Given the description of an element on the screen output the (x, y) to click on. 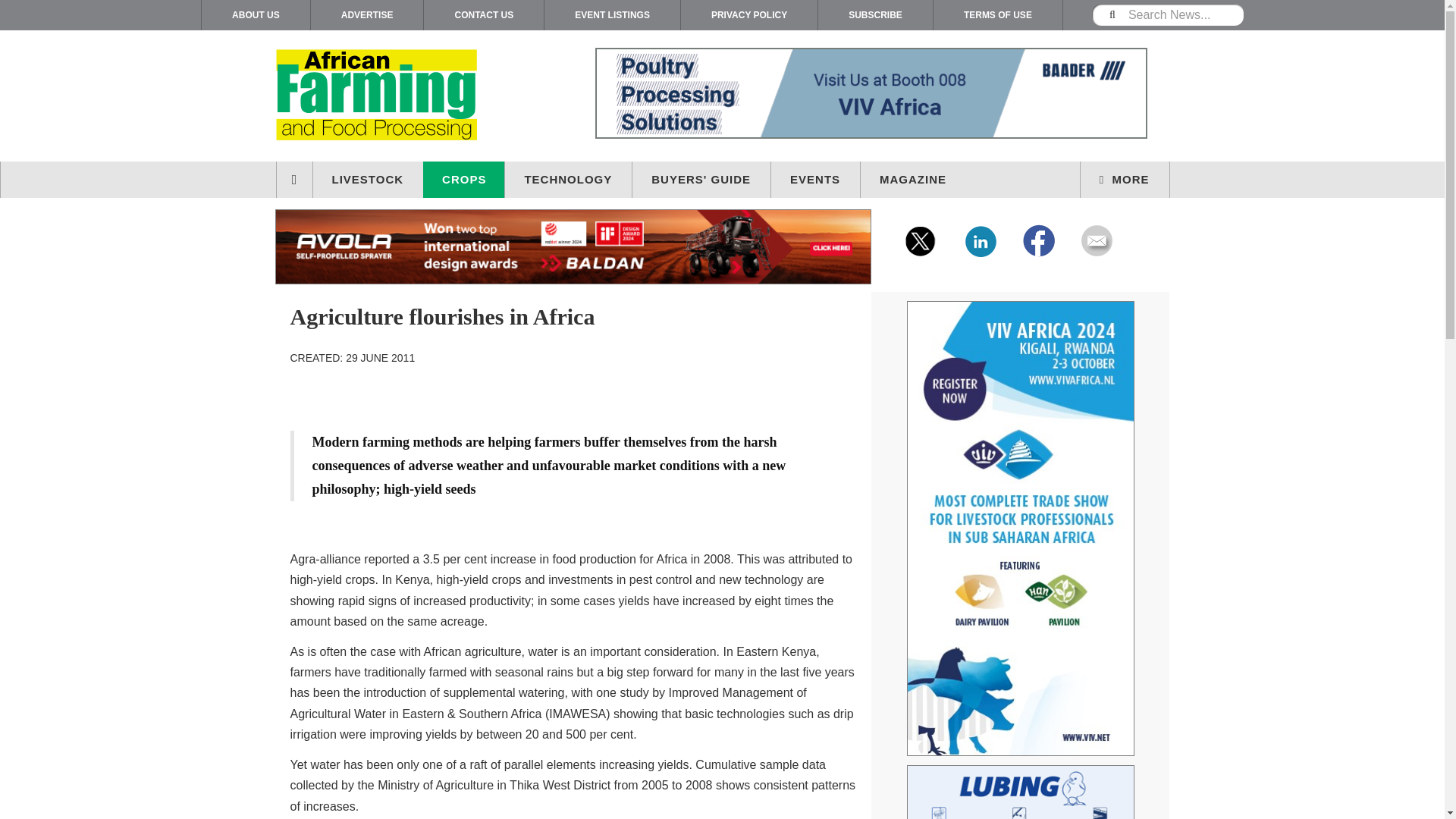
TECHNOLOGY (568, 179)
HOME (295, 179)
BUYERS' GUIDE (700, 179)
ADVERTISE (367, 15)
LIVESTOCK (368, 179)
TERMS OF USE (997, 15)
PRIVACY POLICY (748, 15)
SUBSCRIBE (875, 15)
CONTACT US (483, 15)
African Review of Business and Technology (405, 95)
CROPS (464, 179)
ABOUT US (256, 15)
EVENTS (815, 179)
MAGAZINE (913, 179)
EVENT LISTINGS (611, 15)
